Given the description of an element on the screen output the (x, y) to click on. 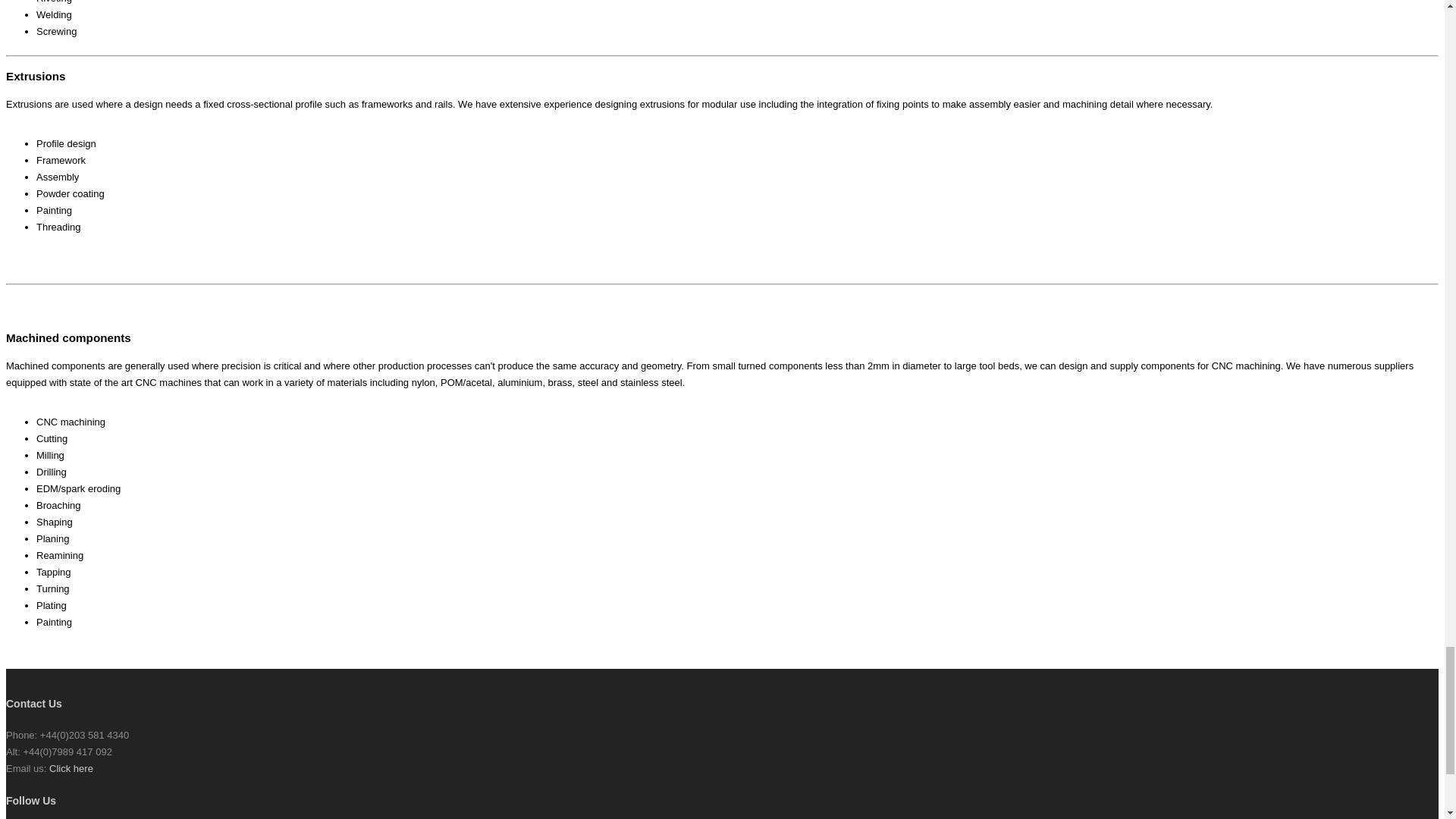
Email us (71, 767)
